Given the description of an element on the screen output the (x, y) to click on. 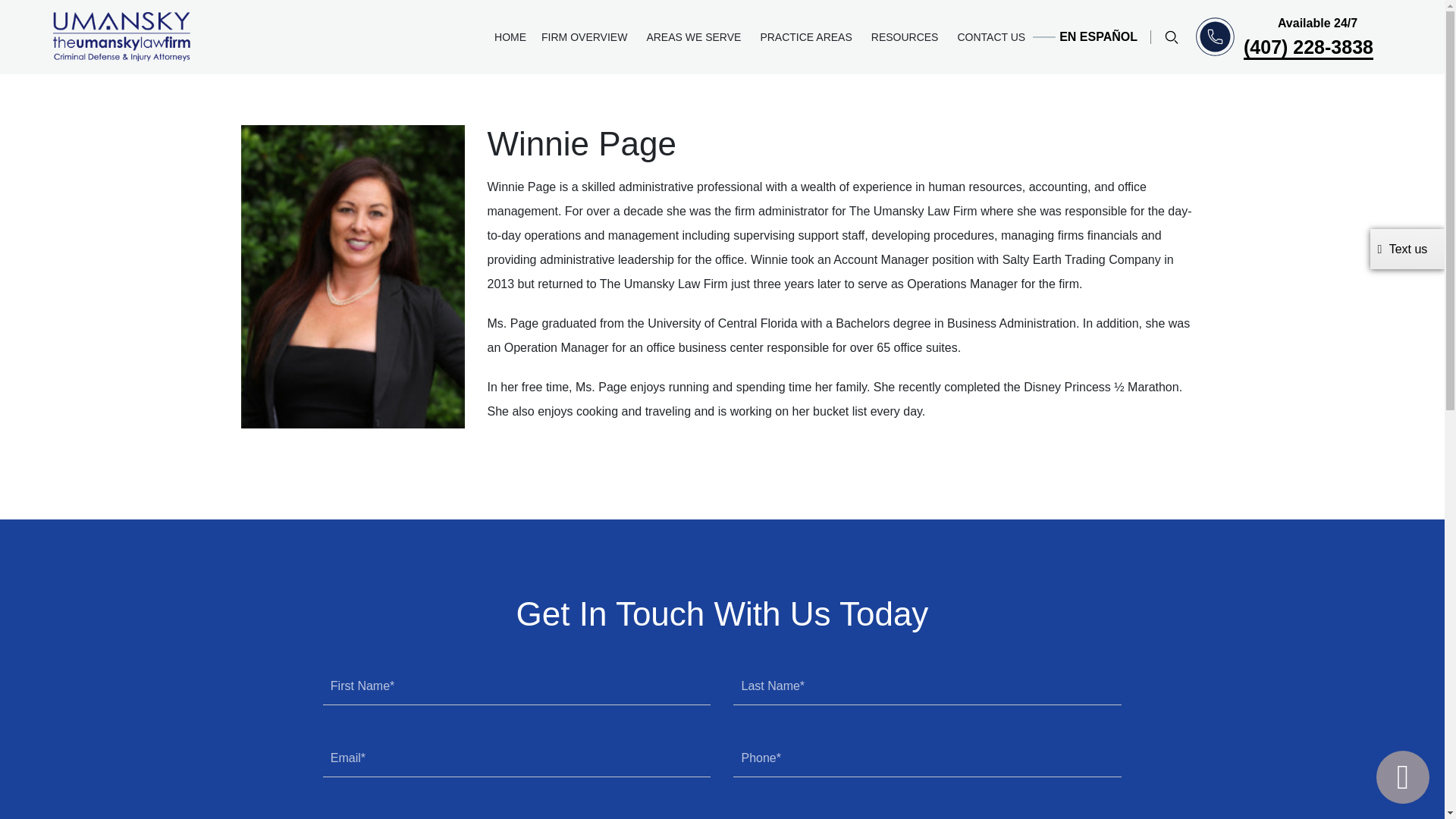
AREAS WE SERVE (695, 37)
HOME (510, 37)
FIRM OVERVIEW (586, 37)
